Given the description of an element on the screen output the (x, y) to click on. 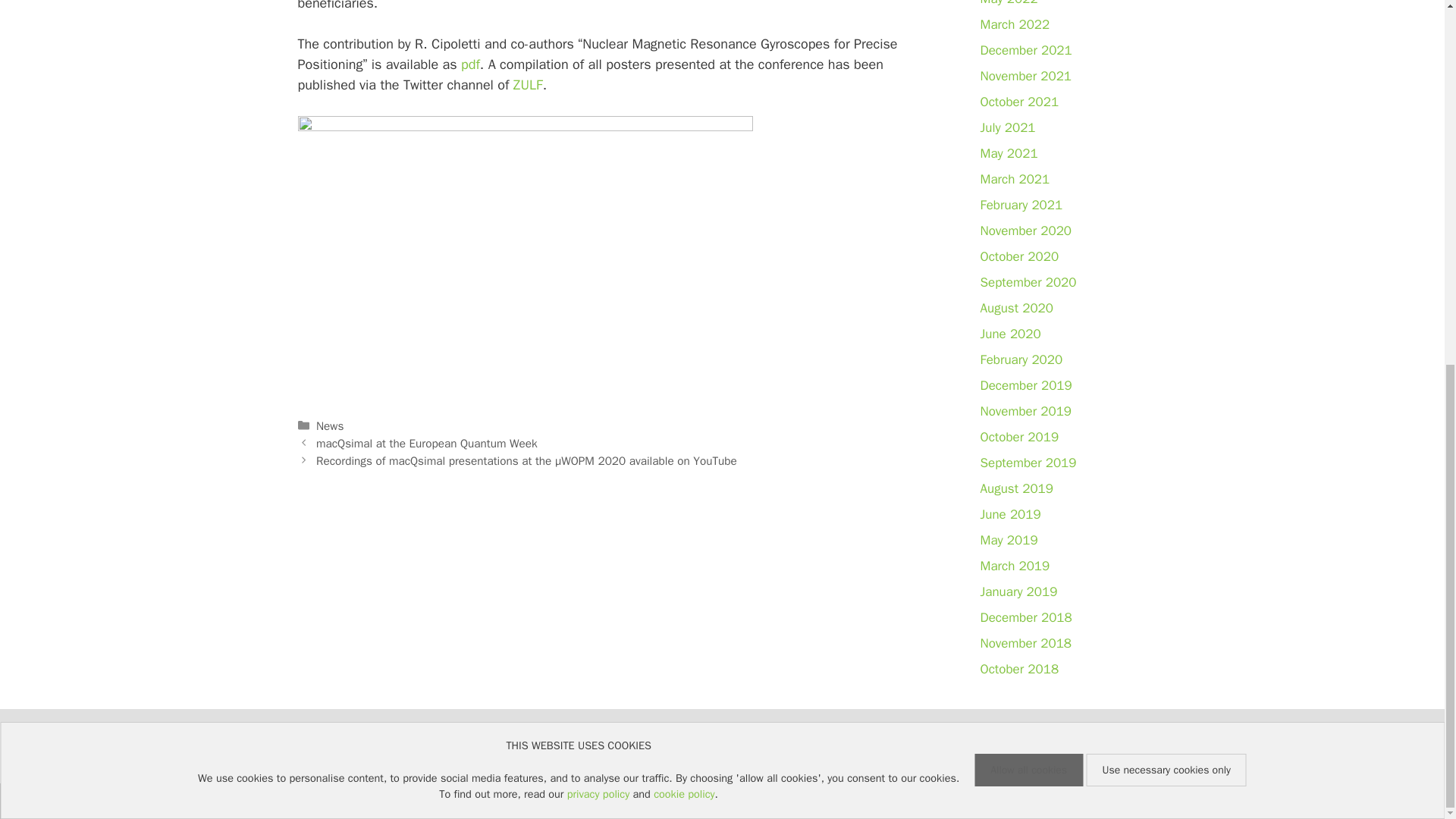
Allow all cookies (1028, 116)
privacy policy (597, 141)
cookie policy (683, 141)
Use necessary cookies only (1166, 116)
